Given the description of an element on the screen output the (x, y) to click on. 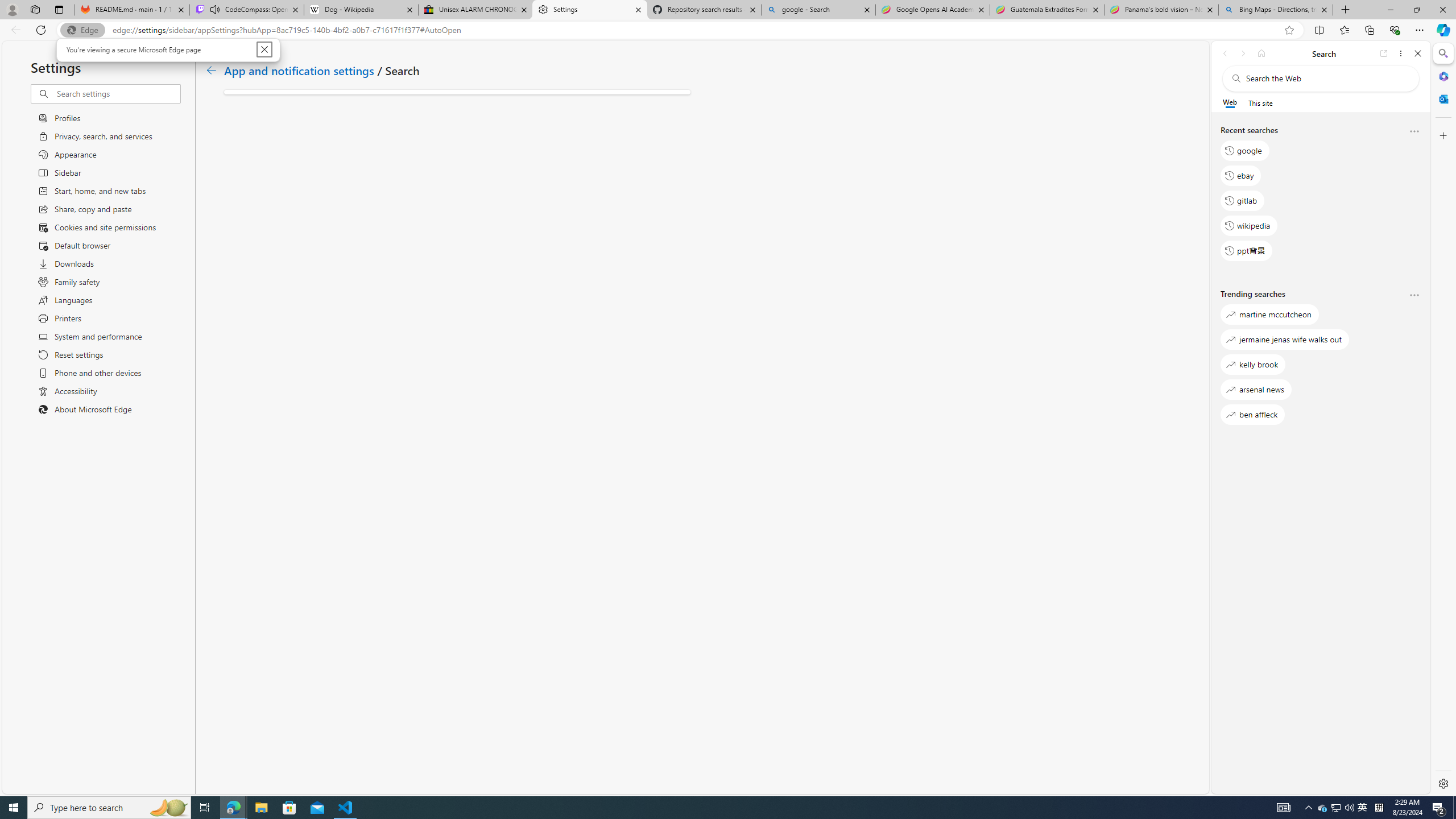
Google Opens AI Academy for Startups - Nearshore Americas (932, 9)
Microsoft Edge - 2 running windows (233, 807)
